Given the description of an element on the screen output the (x, y) to click on. 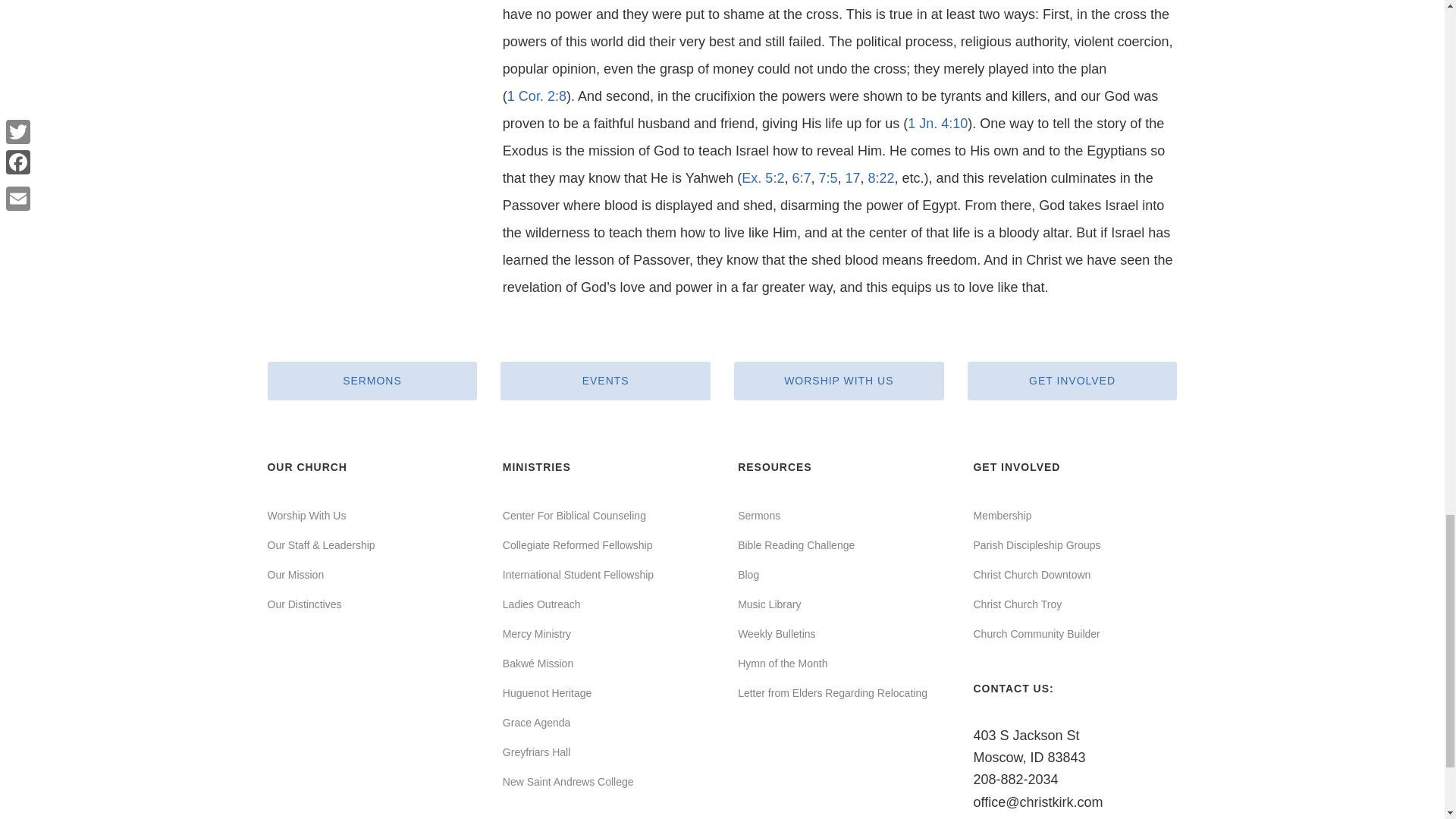
1 Cor. 2:8 (536, 96)
1 Jn. 4:10 (937, 123)
17 (852, 177)
Ex. 5:2 (762, 177)
8:22 (881, 177)
6:7 (801, 177)
7:5 (827, 177)
